Given the description of an element on the screen output the (x, y) to click on. 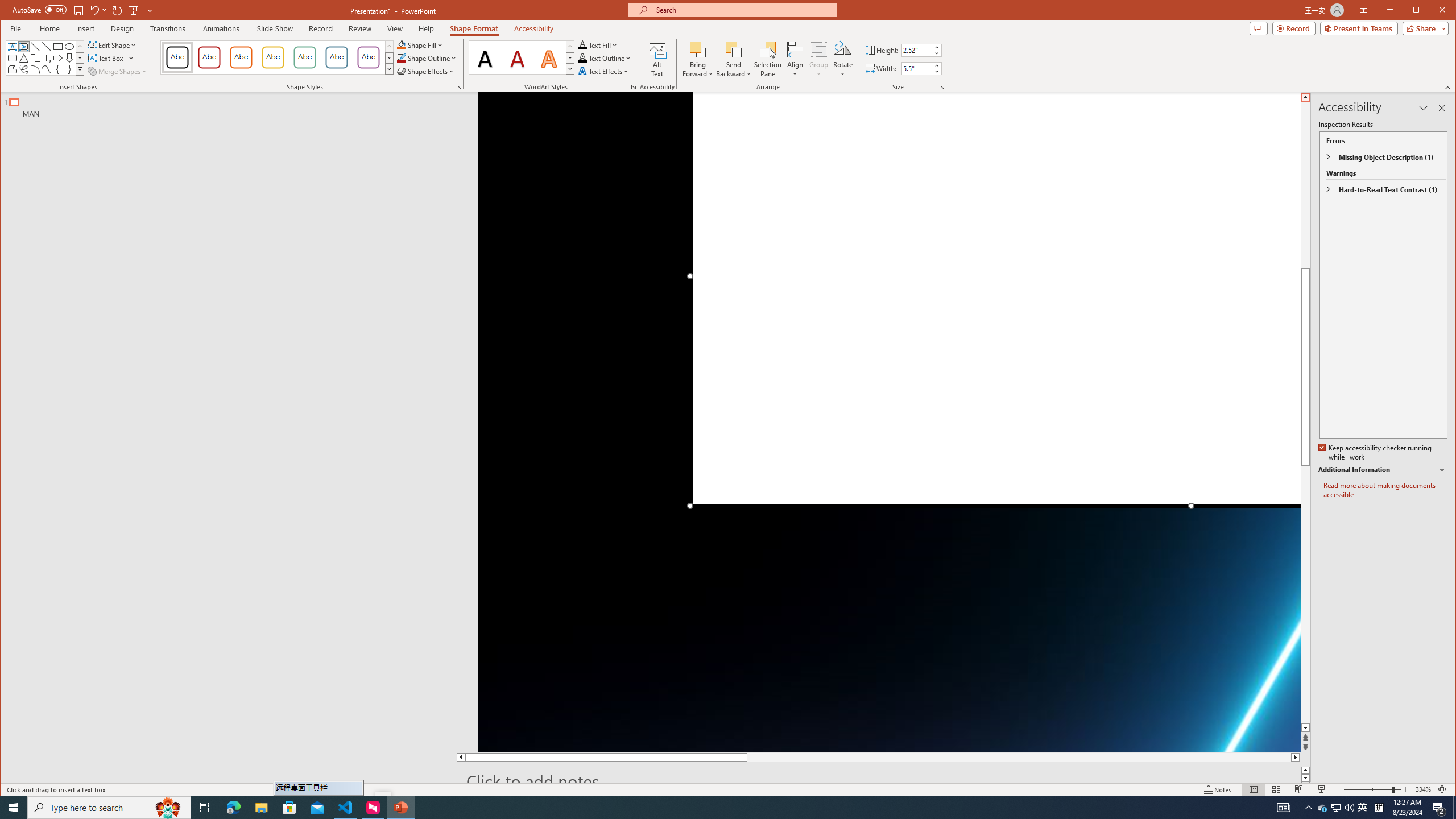
Running applications (700, 807)
Colored Outline - Blue-Gray, Accent 5 (336, 57)
Bring Forward (697, 48)
Shape Fill Orange, Accent 2 (400, 44)
Shape Format (473, 28)
